Given the description of an element on the screen output the (x, y) to click on. 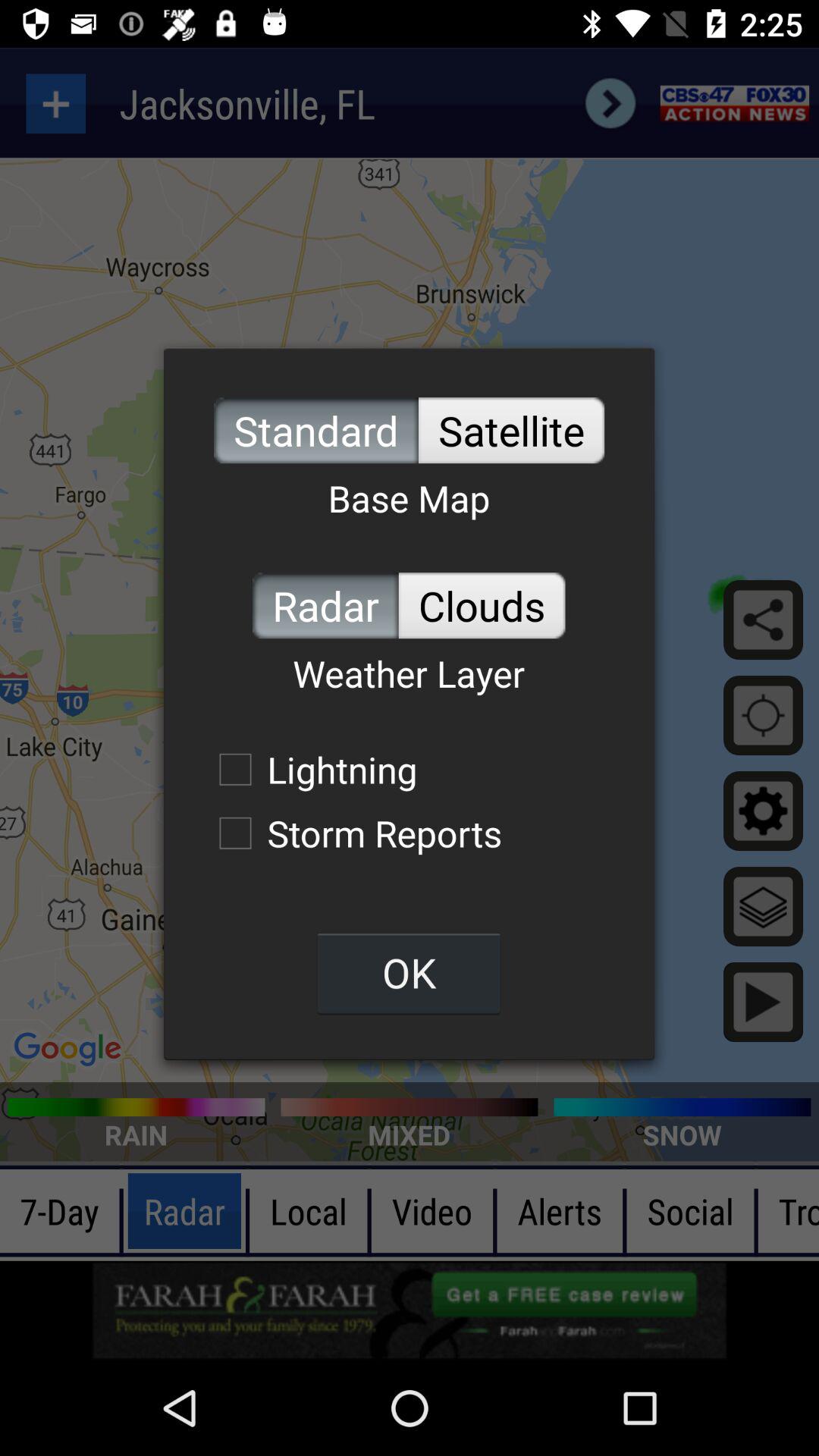
choose icon above the base map (511, 430)
